Given the description of an element on the screen output the (x, y) to click on. 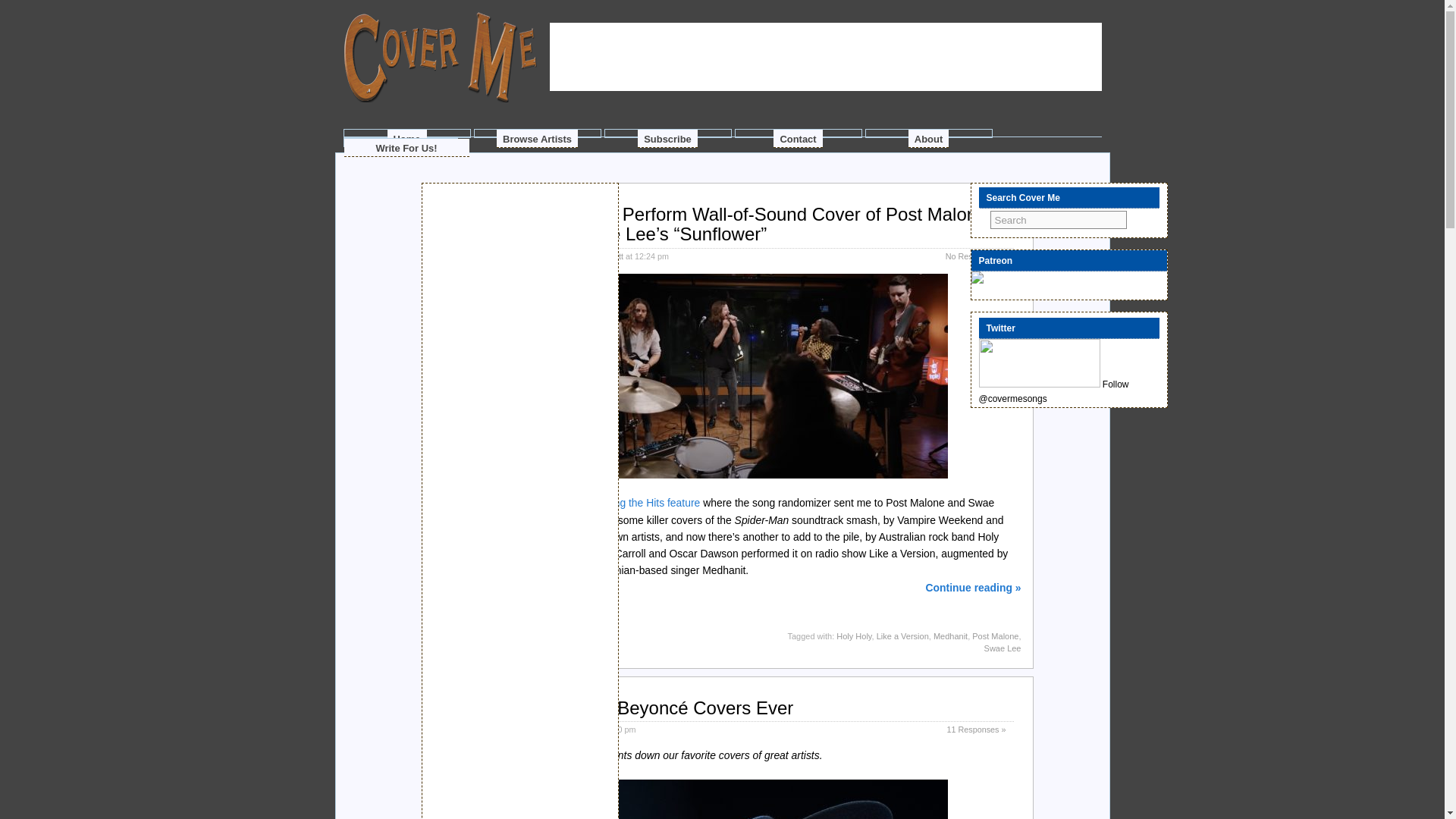
Post Malone (994, 635)
Write For Us! (405, 147)
Search (1058, 219)
Home (406, 138)
Staff (586, 728)
Holy Holy (852, 635)
Like a Version (902, 635)
Swae Lee (1003, 647)
Contact (797, 138)
About (928, 138)
a Covering the Hits feature (637, 502)
Medhanit (950, 635)
Browse Artists (537, 138)
Search (1058, 219)
News (539, 635)
